Given the description of an element on the screen output the (x, y) to click on. 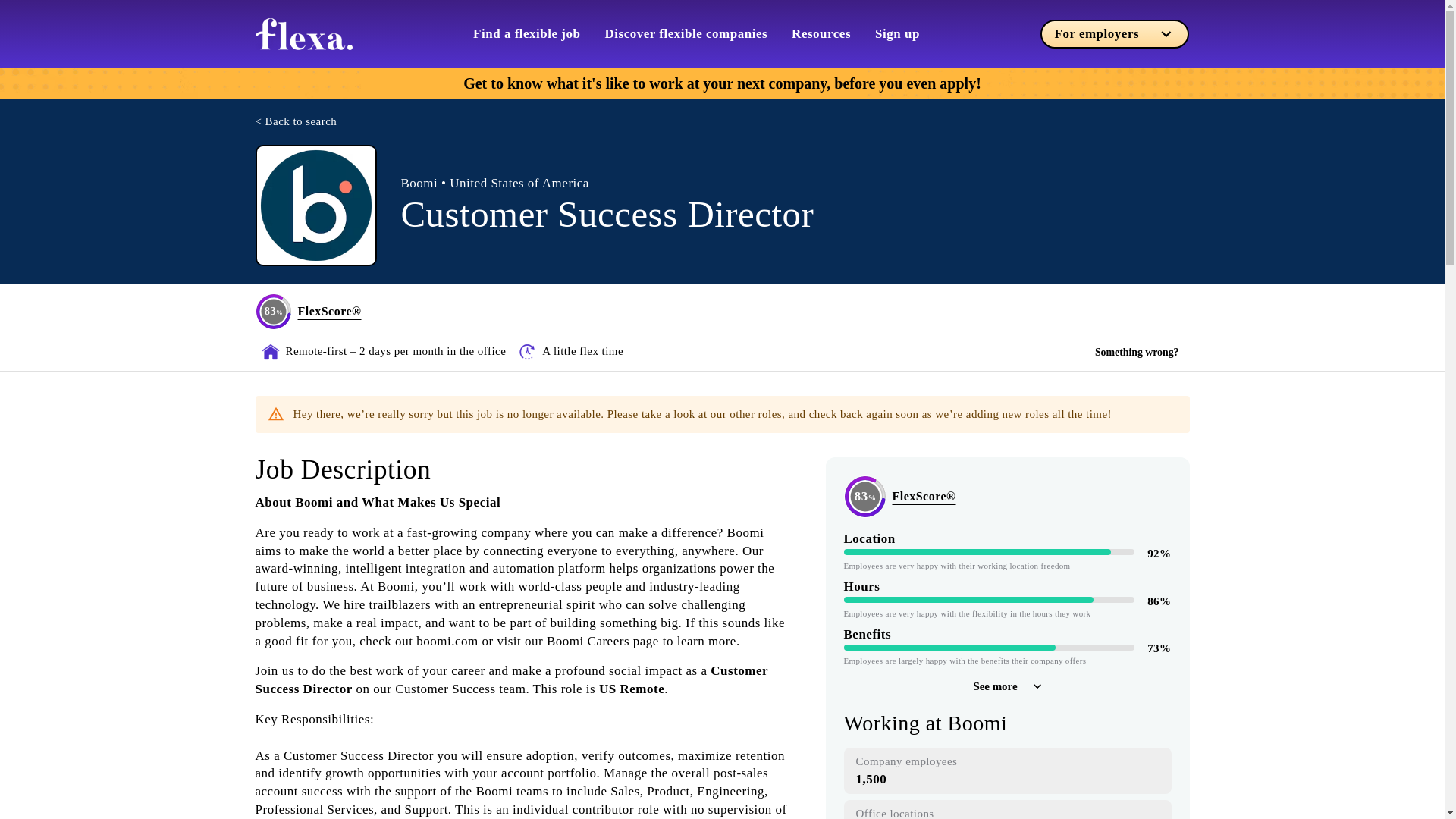
Resources (821, 33)
See more (1006, 686)
For employers (1115, 33)
Find a flexible job (526, 33)
Something wrong? (1136, 352)
Discover flexible companies (686, 33)
Sign up (897, 33)
